Given the description of an element on the screen output the (x, y) to click on. 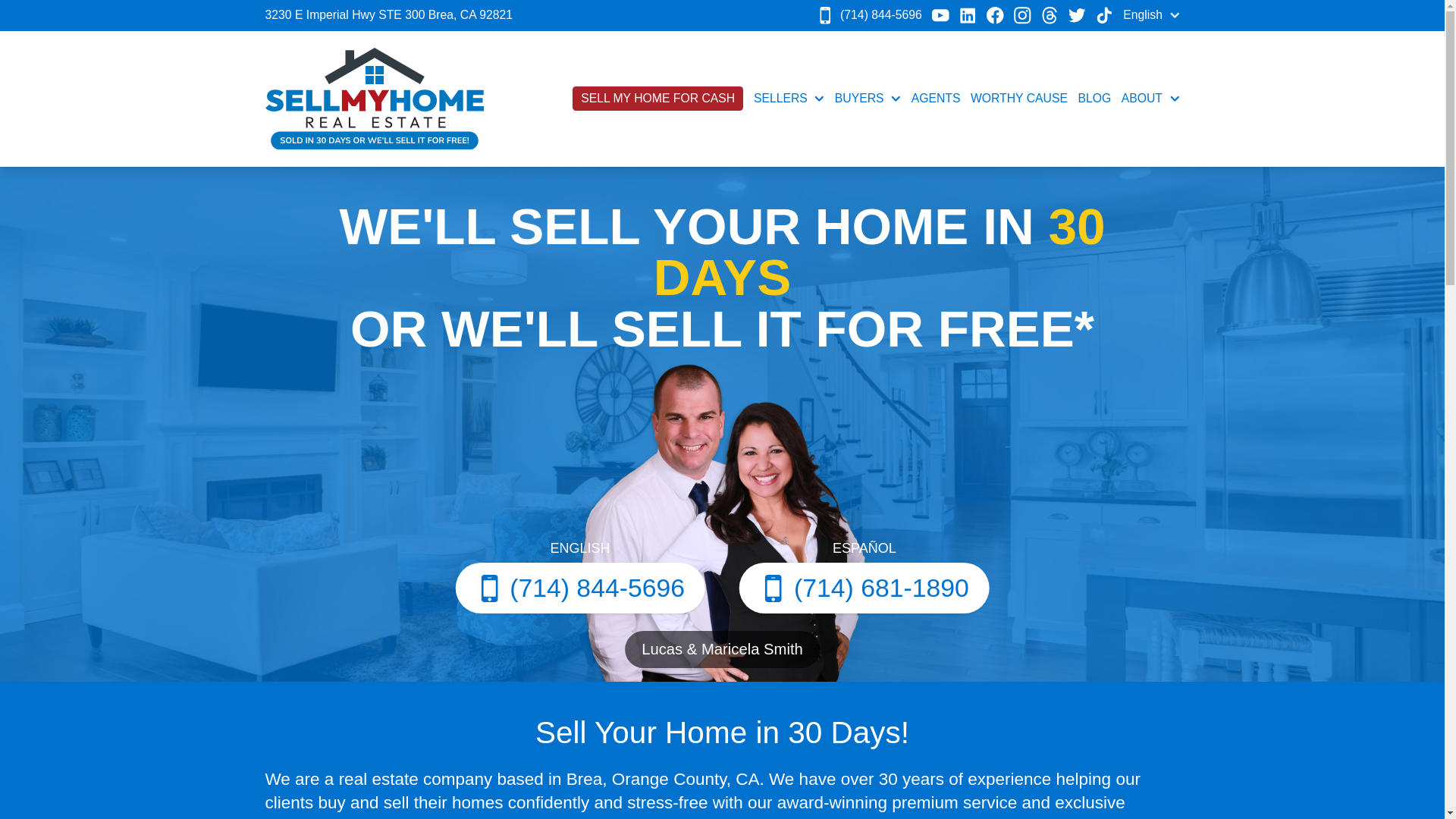
3230 E Imperial Hwy STE 300 Brea, CA 92821 (388, 14)
AGENTS (935, 98)
BLOG (1093, 98)
ABOUT (1150, 98)
English (1150, 15)
SELL MY HOME FOR CASH (658, 98)
WORTHY CAUSE (1019, 98)
SELLERS (789, 98)
BUYERS (867, 98)
